Given the description of an element on the screen output the (x, y) to click on. 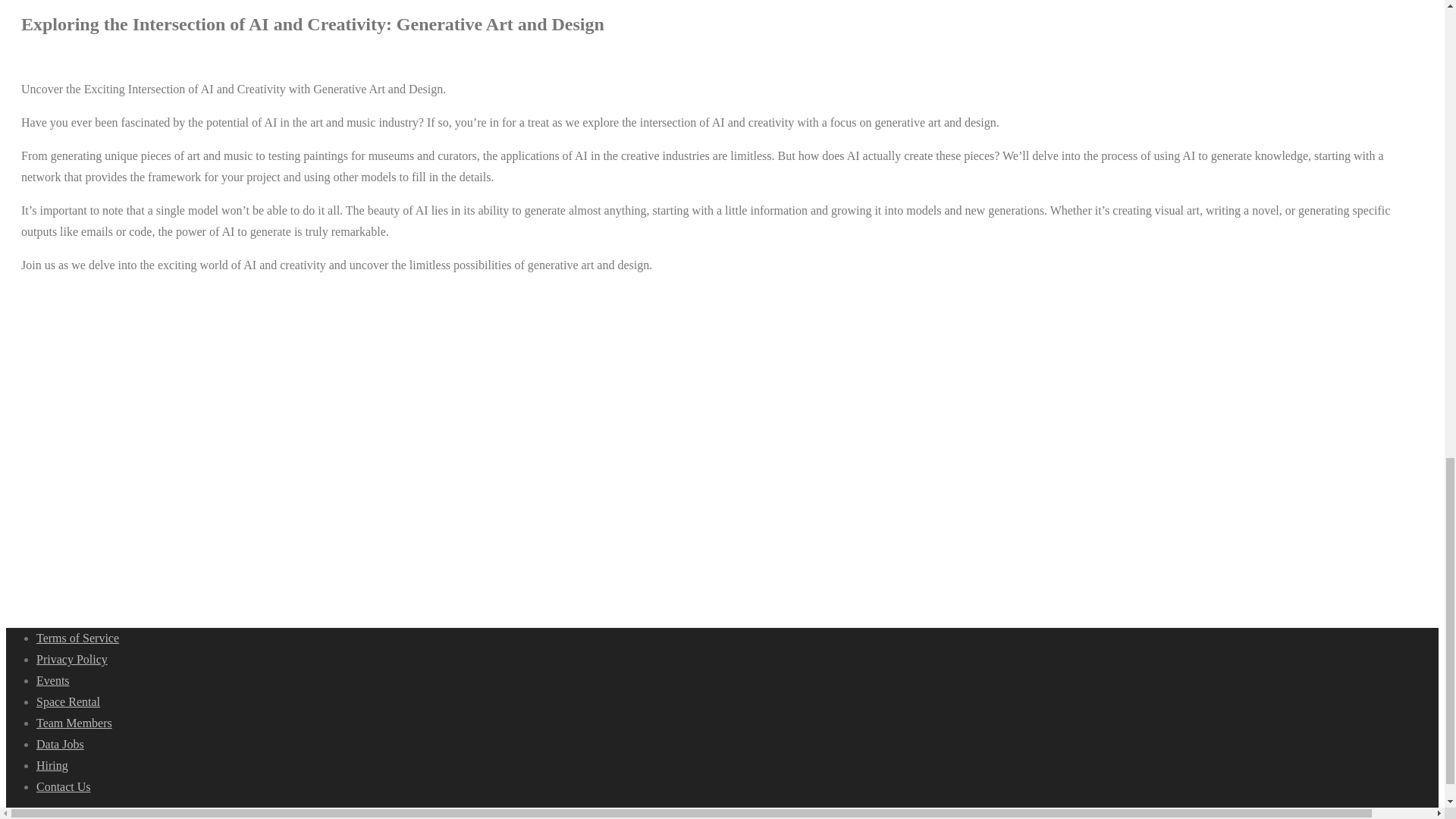
YouTube video player (225, 414)
